Given the description of an element on the screen output the (x, y) to click on. 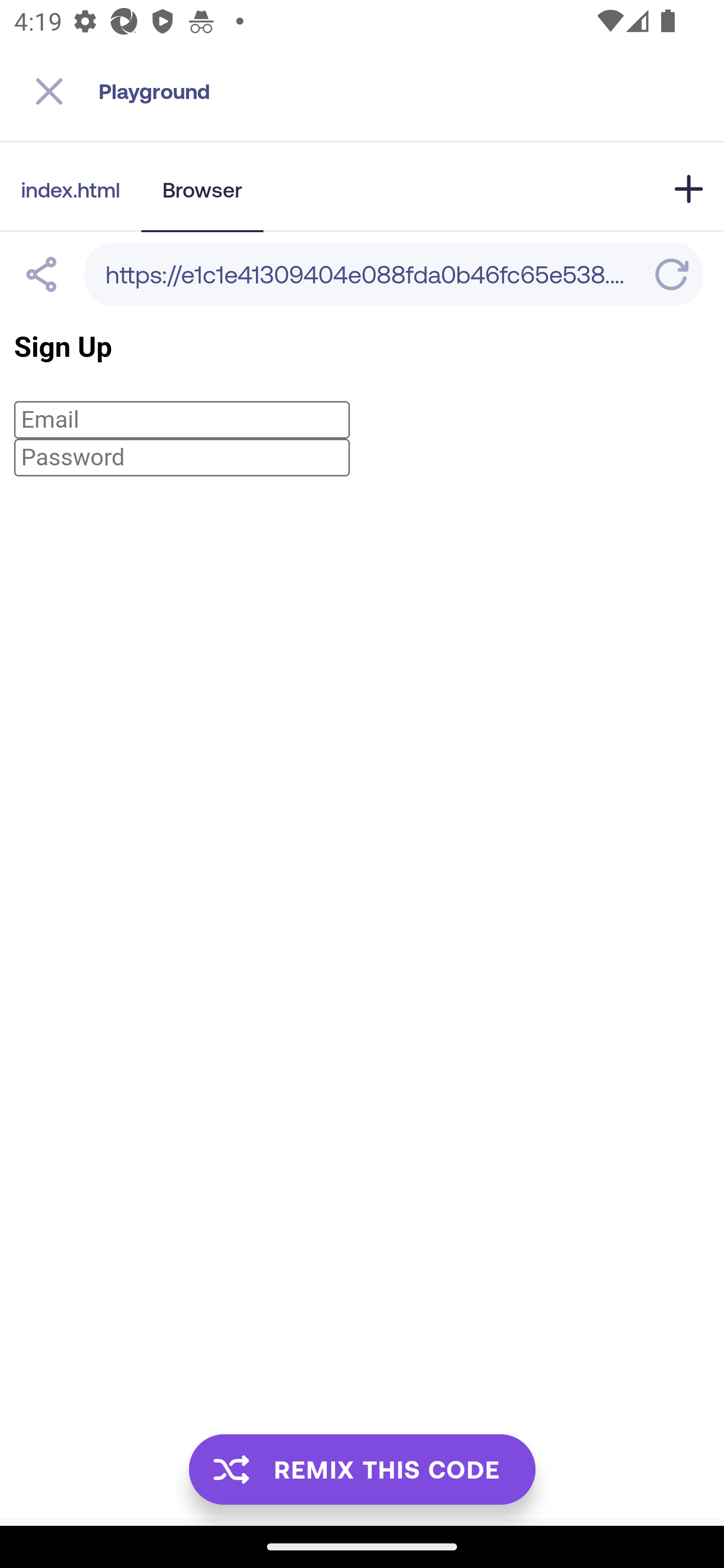
Navigate up (49, 91)
Playground (411, 91)
index.html (70, 189)
REMIX THIS CODE (361, 1469)
